Given the description of an element on the screen output the (x, y) to click on. 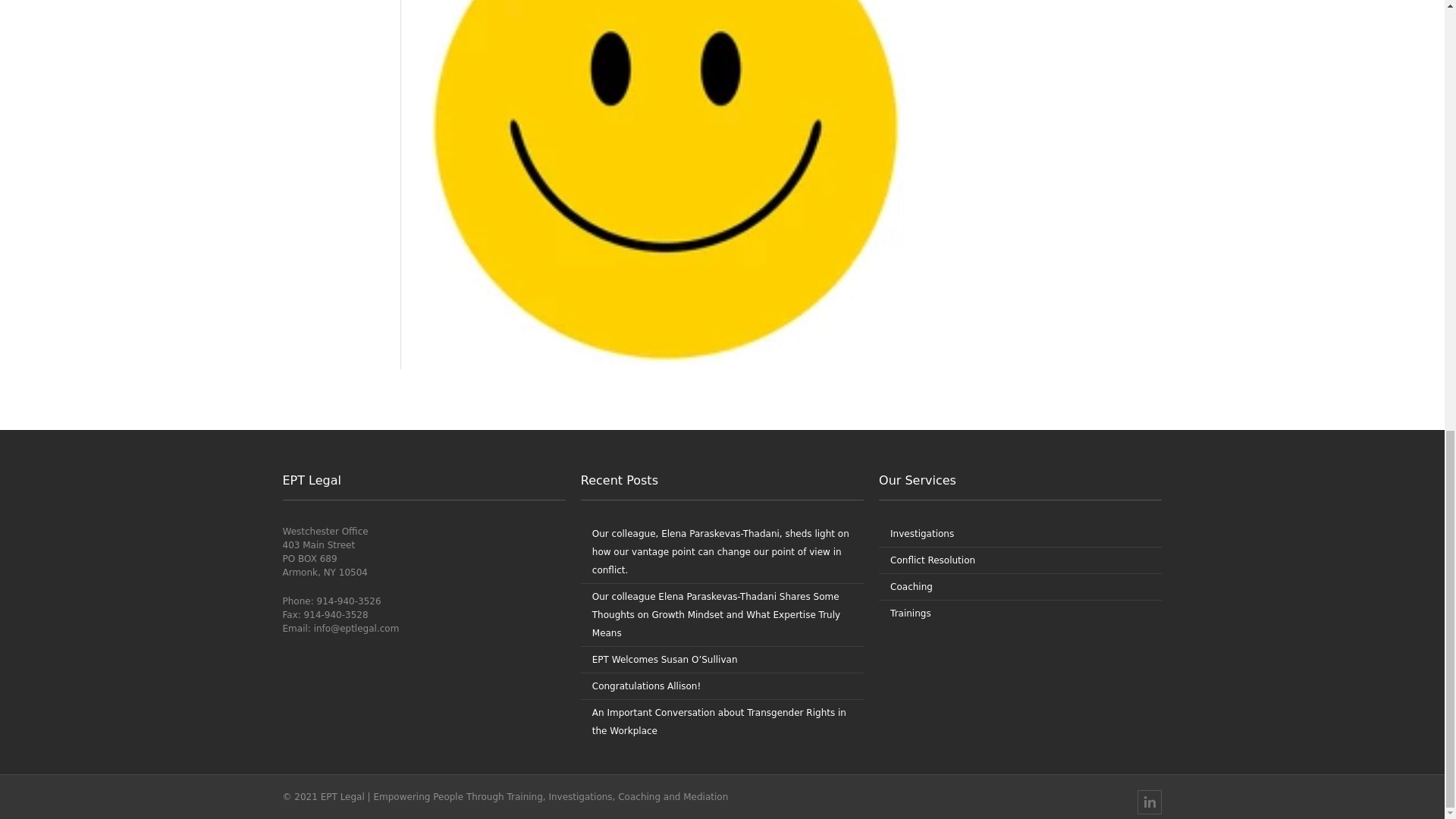
Trainings (910, 613)
Congratulations Allison! (646, 685)
Congratulations Allison! (646, 685)
Coaching (911, 586)
Investigations (921, 533)
Conflict Resolution (932, 560)
